Given the description of an element on the screen output the (x, y) to click on. 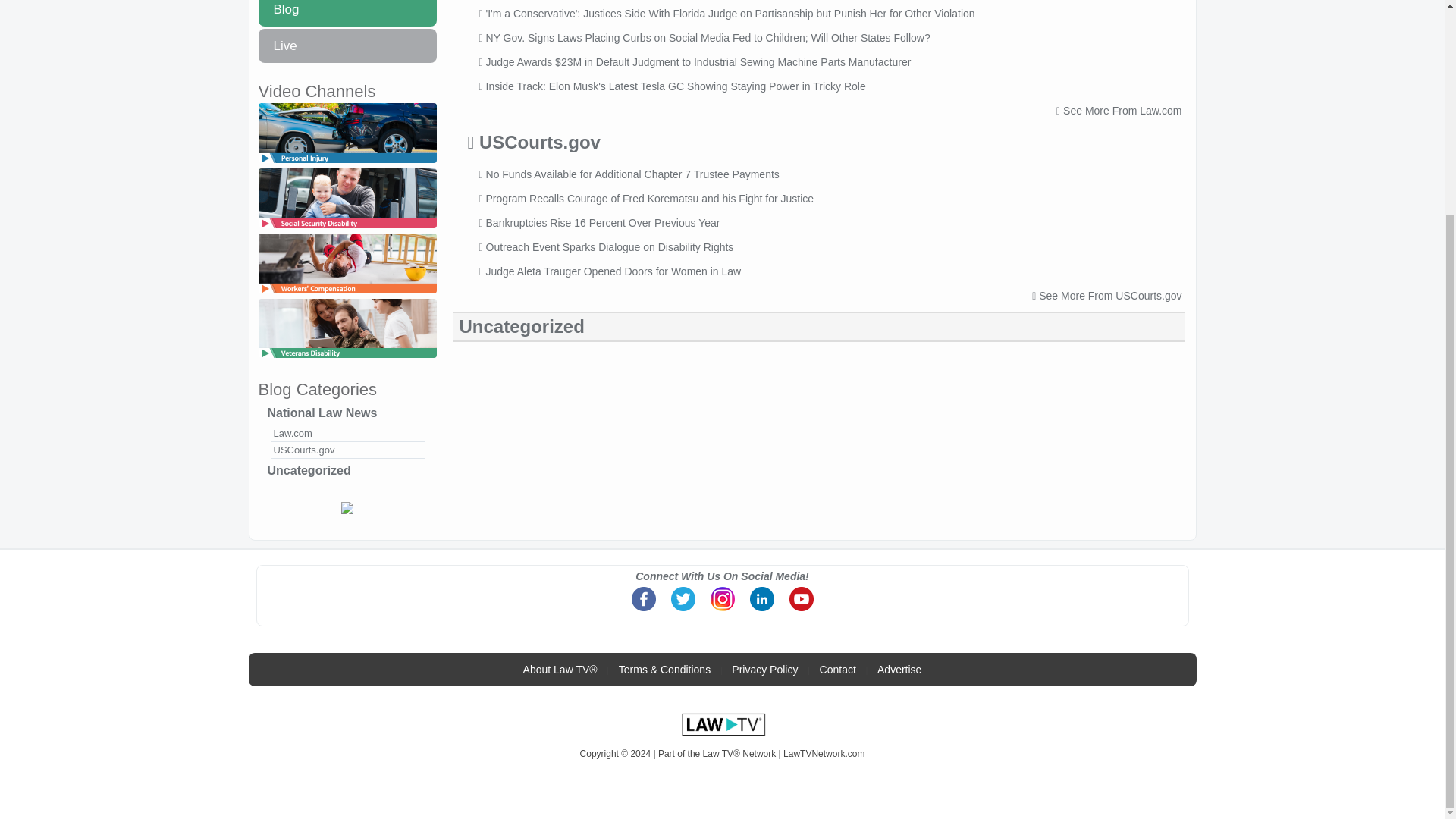
Uncategorized (346, 470)
Blog (346, 13)
Live (346, 45)
Personal Injury (346, 163)
Social Security Disability (346, 229)
Veterans Disability (346, 358)
USCourts.gov (346, 450)
Law.com (346, 433)
National Law News (346, 413)
